Given the description of an element on the screen output the (x, y) to click on. 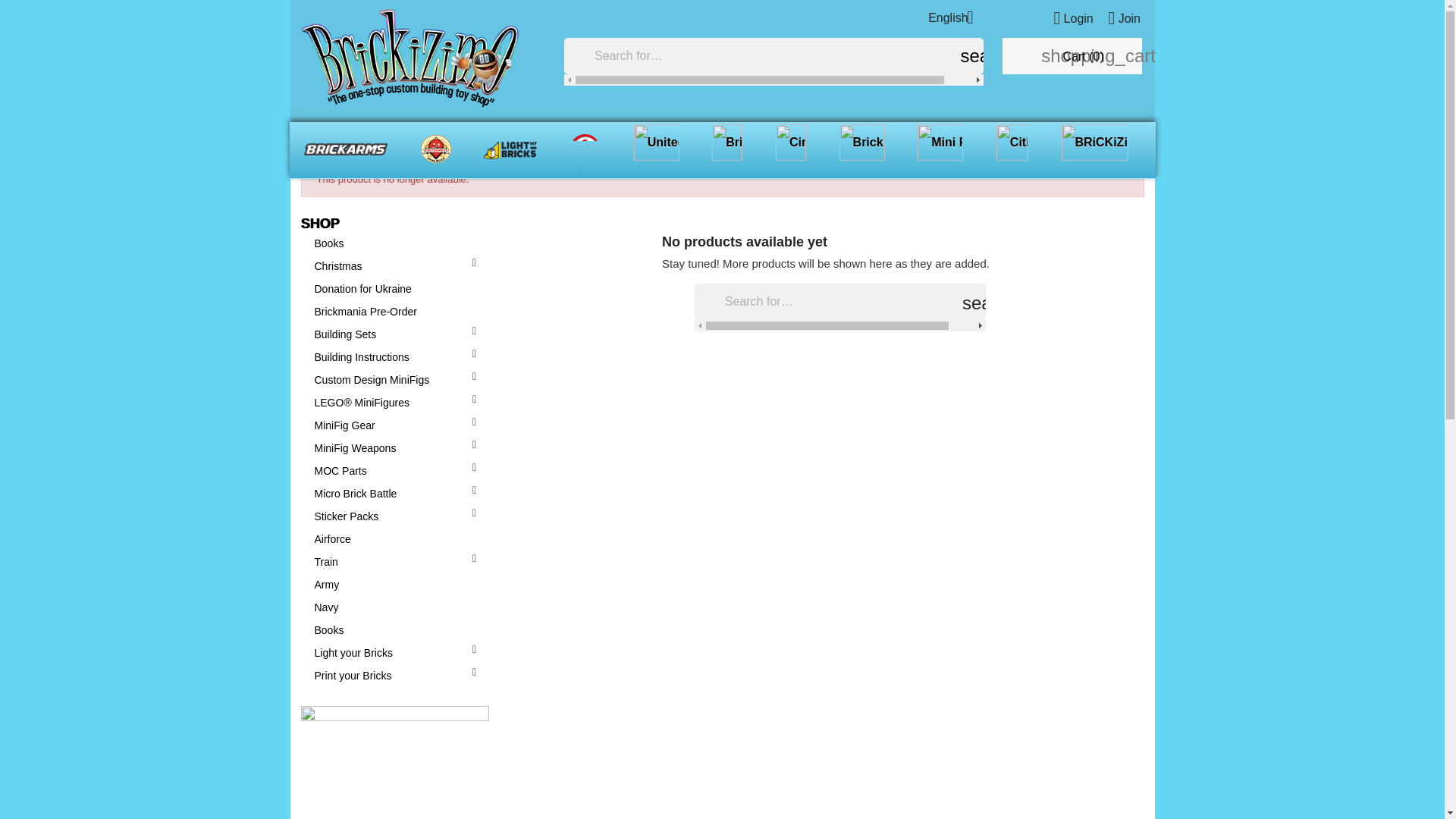
Brickmania (435, 149)
United Bricks (656, 148)
Create a customer account (1118, 18)
MiniCat fig (584, 148)
Brickarms (345, 148)
BRiCKiZiMO (1094, 148)
Light My Bricks (510, 148)
Brick Warriors (862, 148)
Log in to your customer account (1069, 18)
Mini Figures (939, 148)
